Given the description of an element on the screen output the (x, y) to click on. 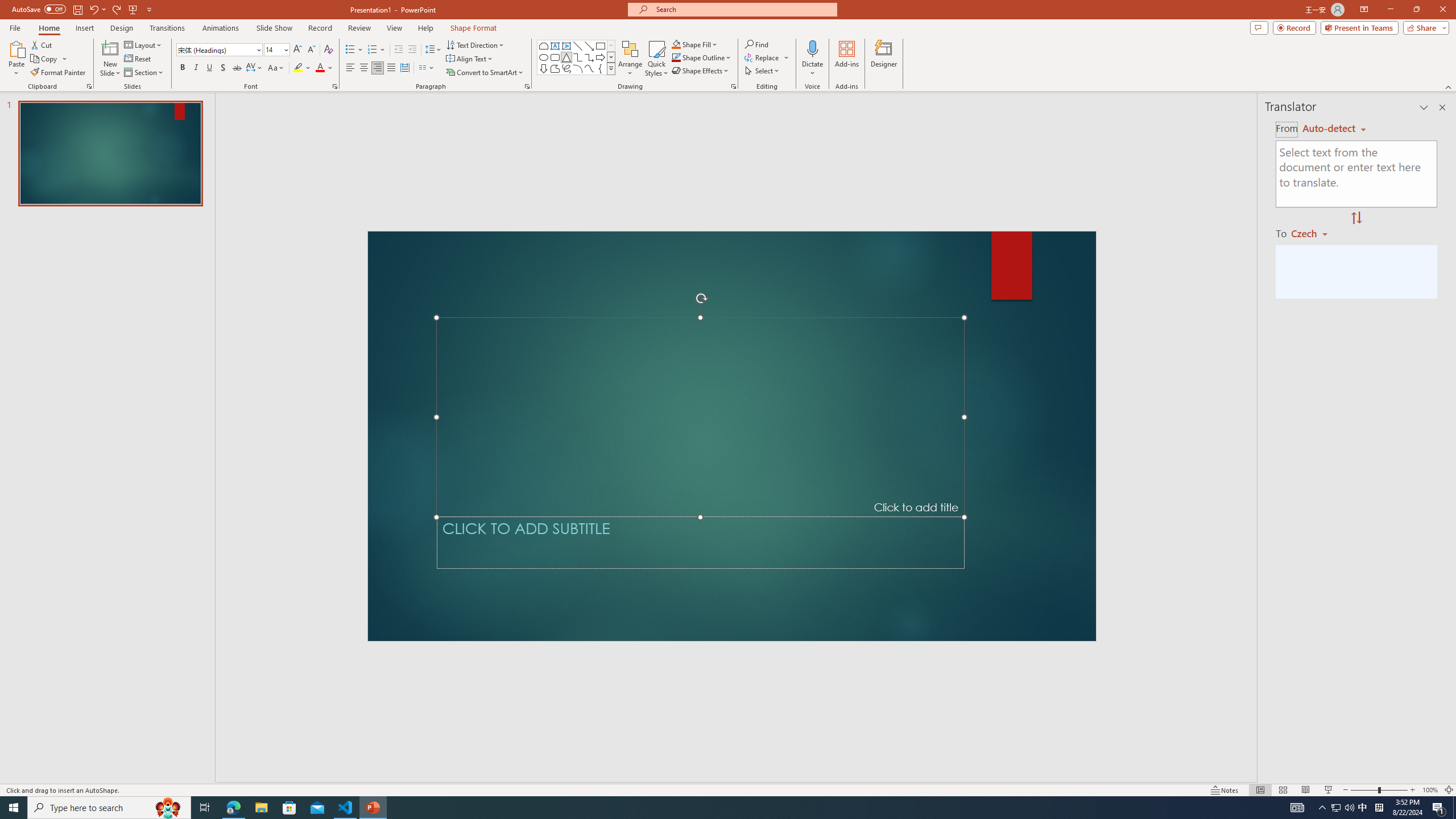
Czech (1313, 232)
